Given the description of an element on the screen output the (x, y) to click on. 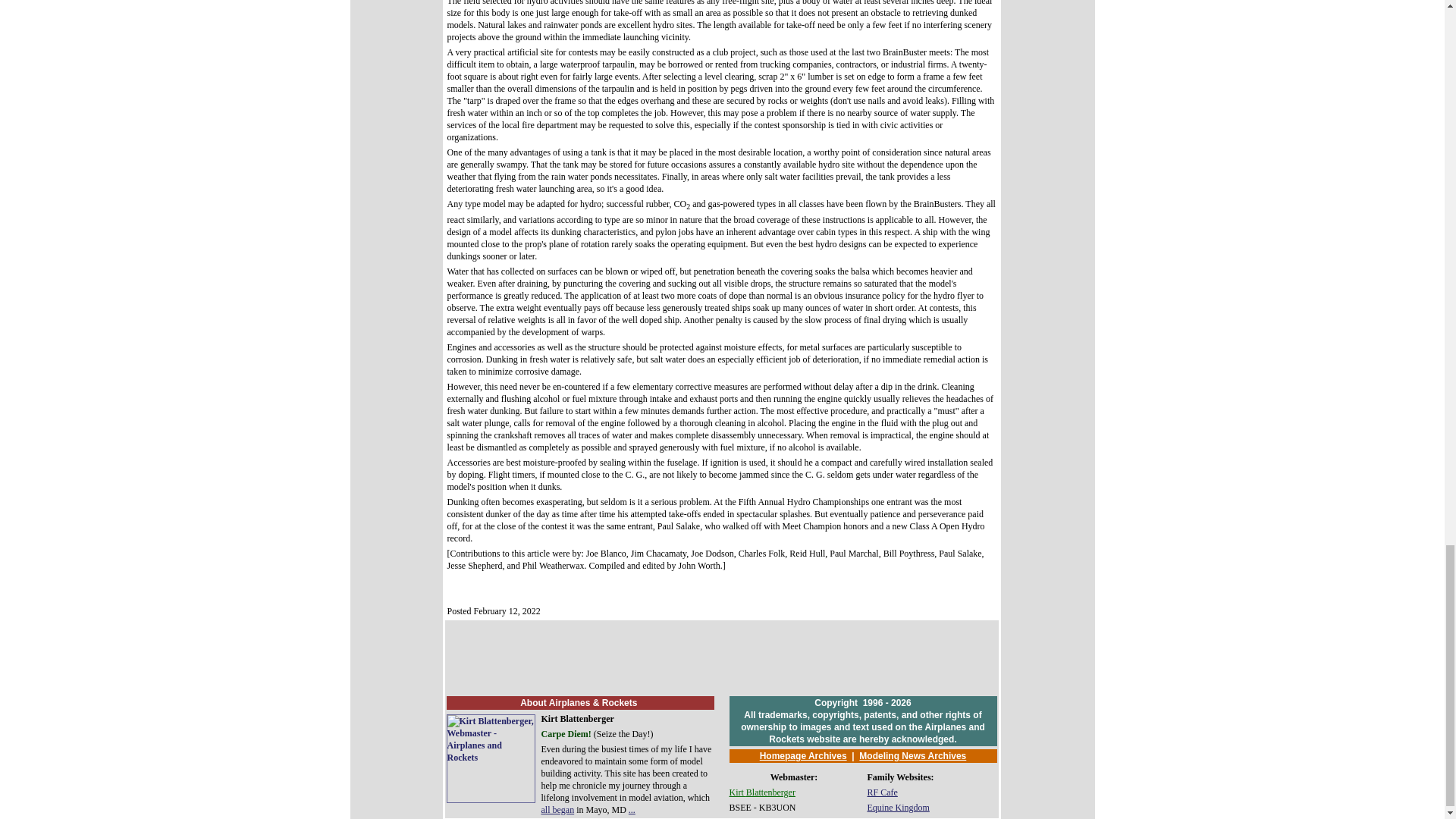
Our daughter, Sally's, horse riding website (898, 807)
RF Cafe (882, 792)
Homepage Archives (803, 756)
Equine Kingdom (898, 807)
Modeling News Archives (912, 756)
Kirt Blattenberger (761, 792)
all began (558, 809)
